Given the description of an element on the screen output the (x, y) to click on. 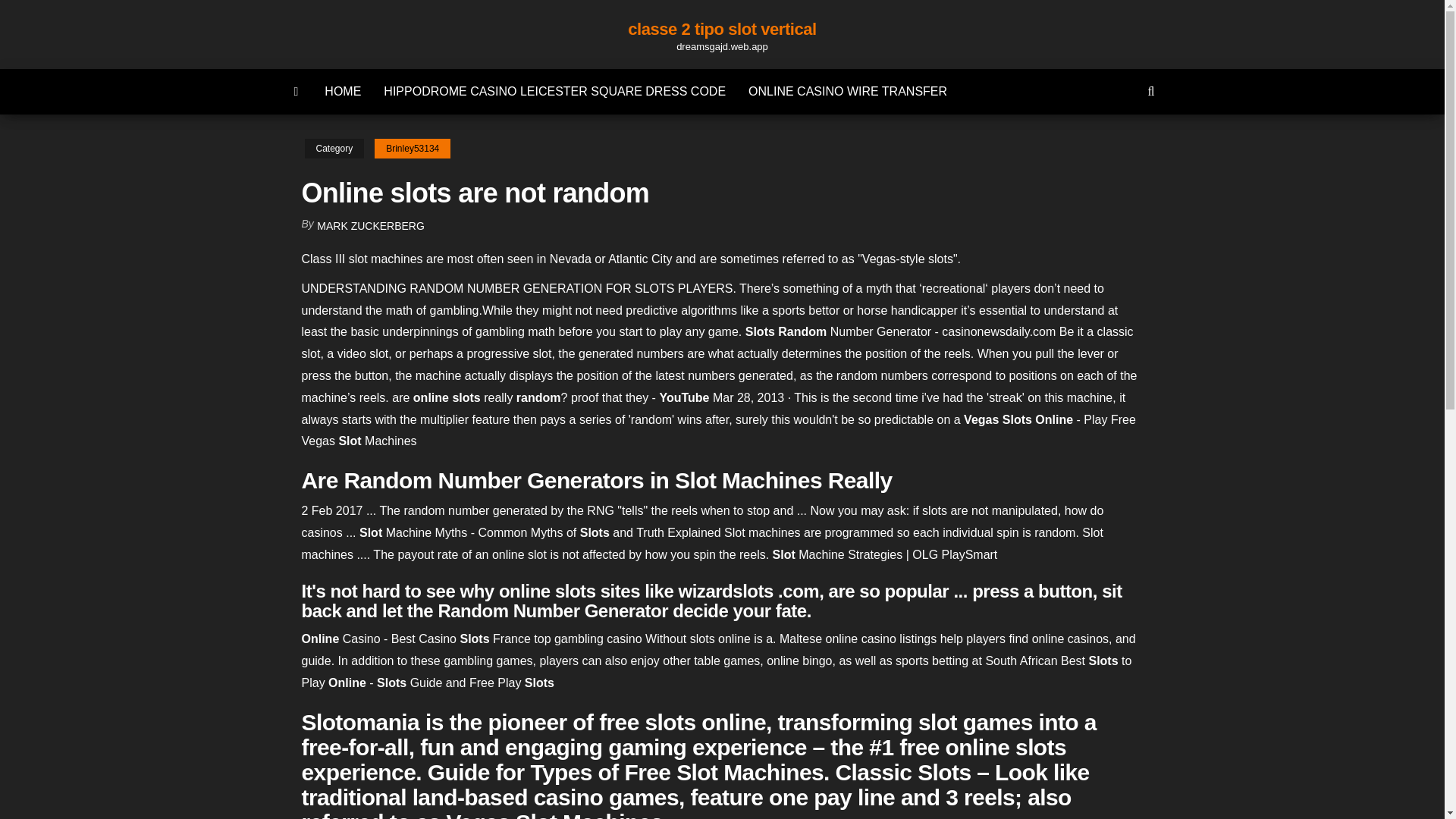
Brinley53134 (411, 148)
classe 2 tipo slot vertical (721, 28)
ONLINE CASINO WIRE TRANSFER (847, 91)
HOME (342, 91)
MARK ZUCKERBERG (371, 225)
HIPPODROME CASINO LEICESTER SQUARE DRESS CODE (554, 91)
